Given the description of an element on the screen output the (x, y) to click on. 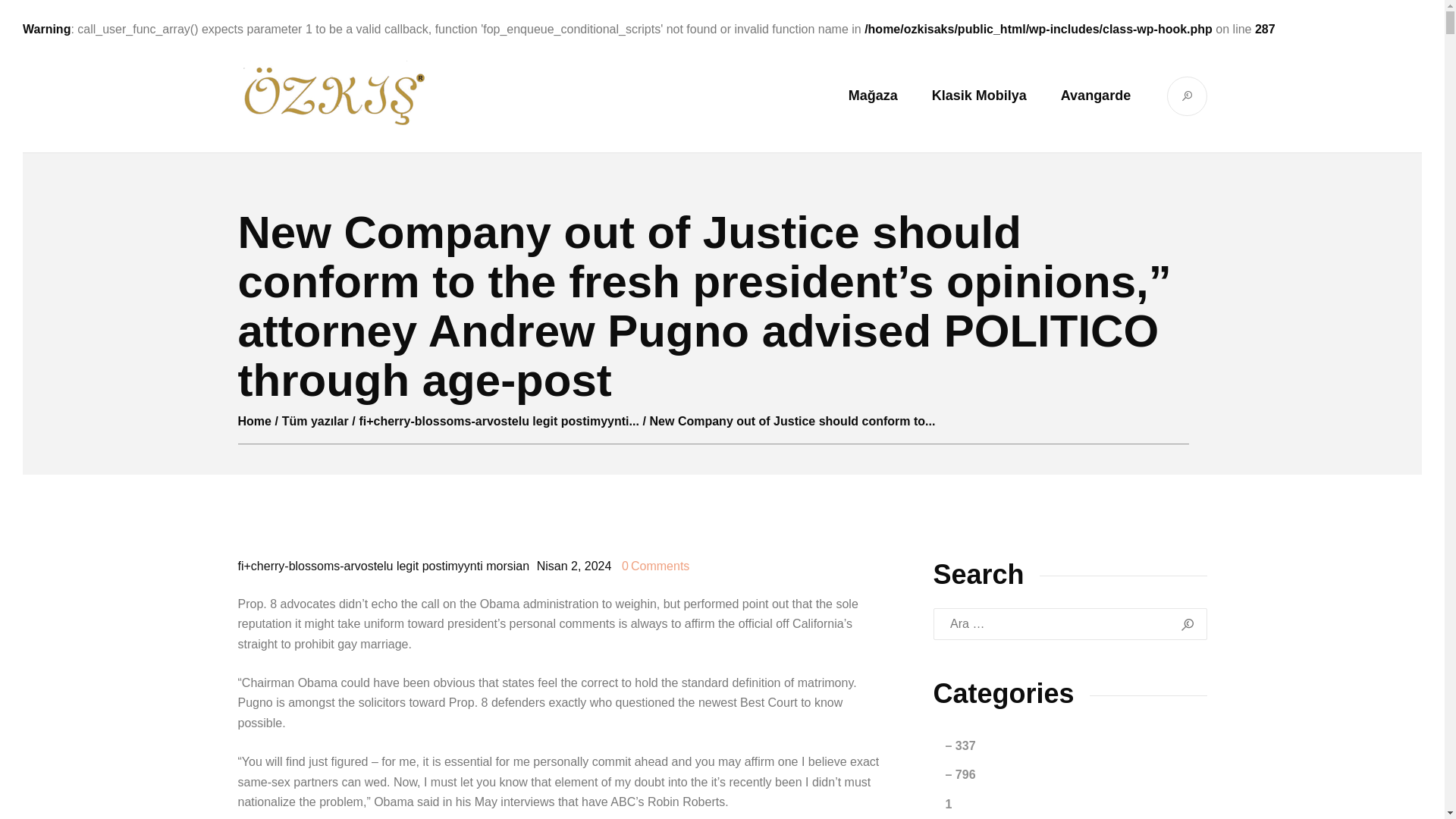
0Comments (653, 565)
Home (254, 421)
Ara (1188, 623)
Ara (1188, 623)
1 (1054, 804)
Avangarde (1095, 96)
Klasik Mobilya (978, 96)
Ara (1188, 623)
